Given the description of an element on the screen output the (x, y) to click on. 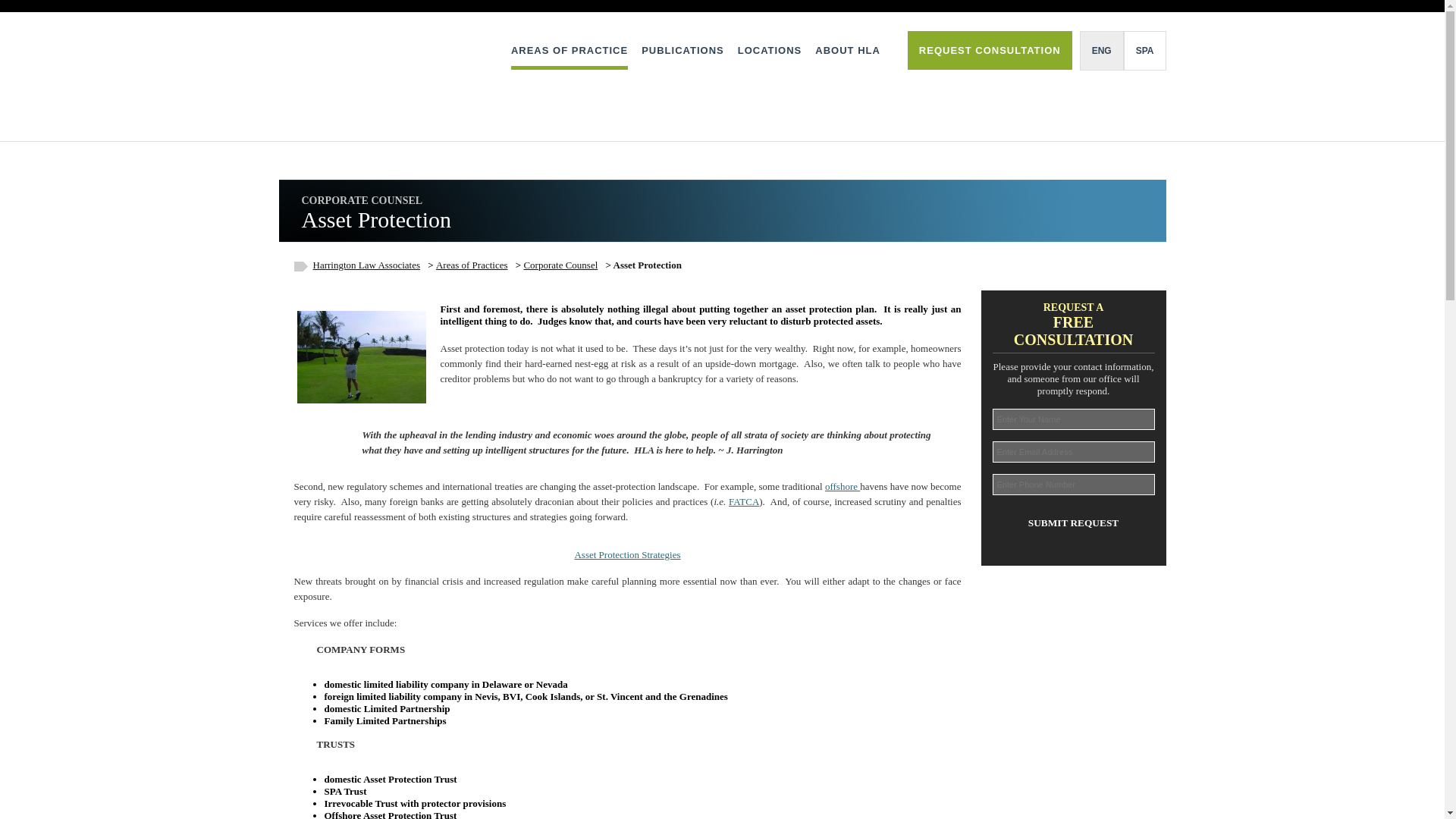
SUBMIT REQUEST (1072, 522)
LOCATIONS (769, 50)
ENG (1102, 50)
AREAS OF PRACTICE (569, 50)
REQUEST CONSULTATION (989, 50)
SPA (1145, 50)
